Given the description of an element on the screen output the (x, y) to click on. 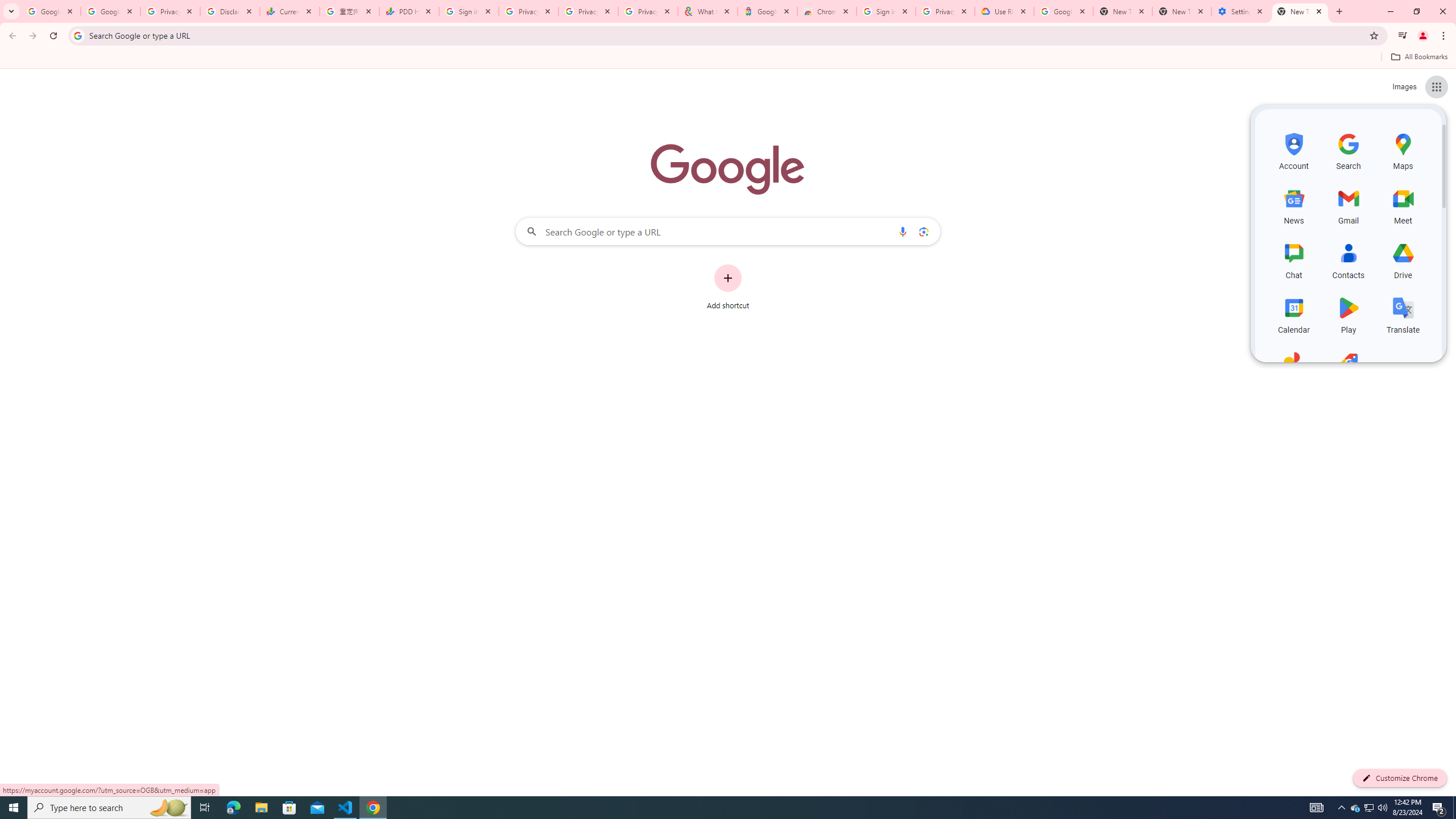
Calendar, row 4 of 5 and column 1 of 3 in the first section (1293, 313)
Gmail, row 2 of 5 and column 2 of 3 in the first section (1348, 204)
PDD Holdings Inc - ADR (PDD) Price & News - Google Finance (409, 11)
Settings - System (1241, 11)
Currencies - Google Finance (289, 11)
Search, row 1 of 5 and column 2 of 3 in the first section (1348, 149)
Privacy Checkup (588, 11)
